Given the description of an element on the screen output the (x, y) to click on. 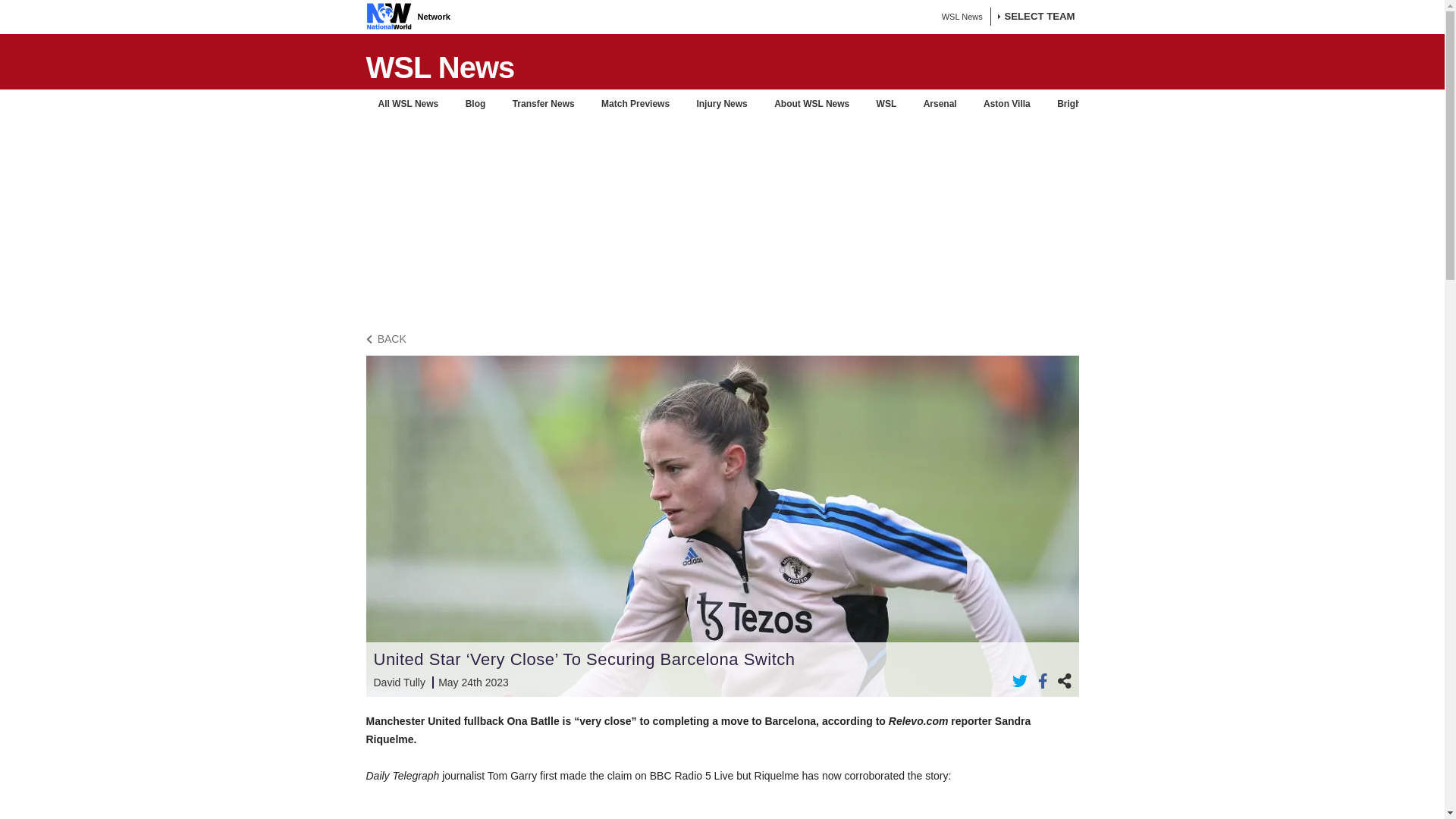
Match Previews (635, 103)
About WSL News (811, 103)
Injury News (721, 103)
All WSL News (407, 103)
Blog (474, 103)
Transfer News (543, 103)
